Given the description of an element on the screen output the (x, y) to click on. 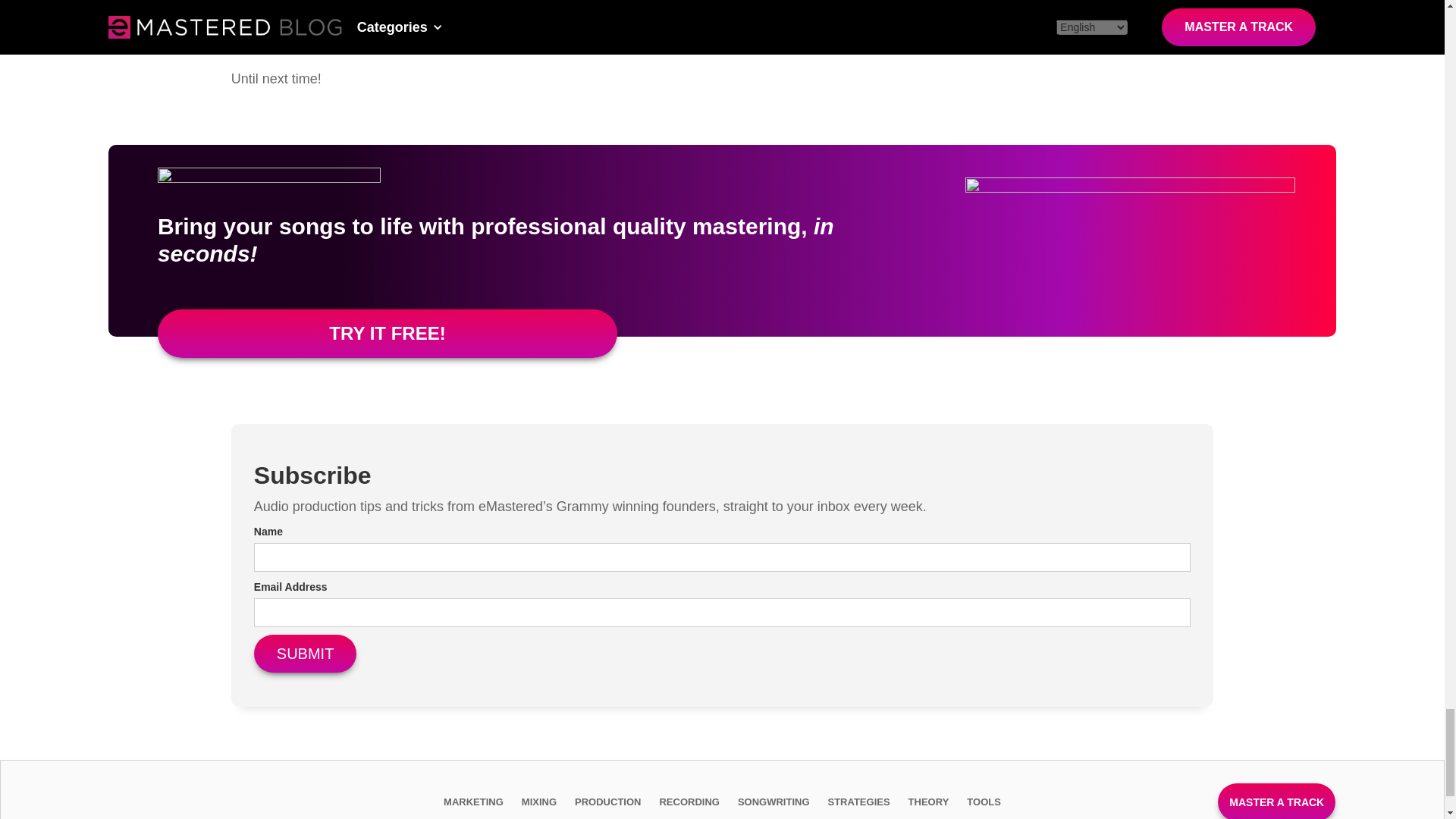
Submit (304, 653)
